Given the description of an element on the screen output the (x, y) to click on. 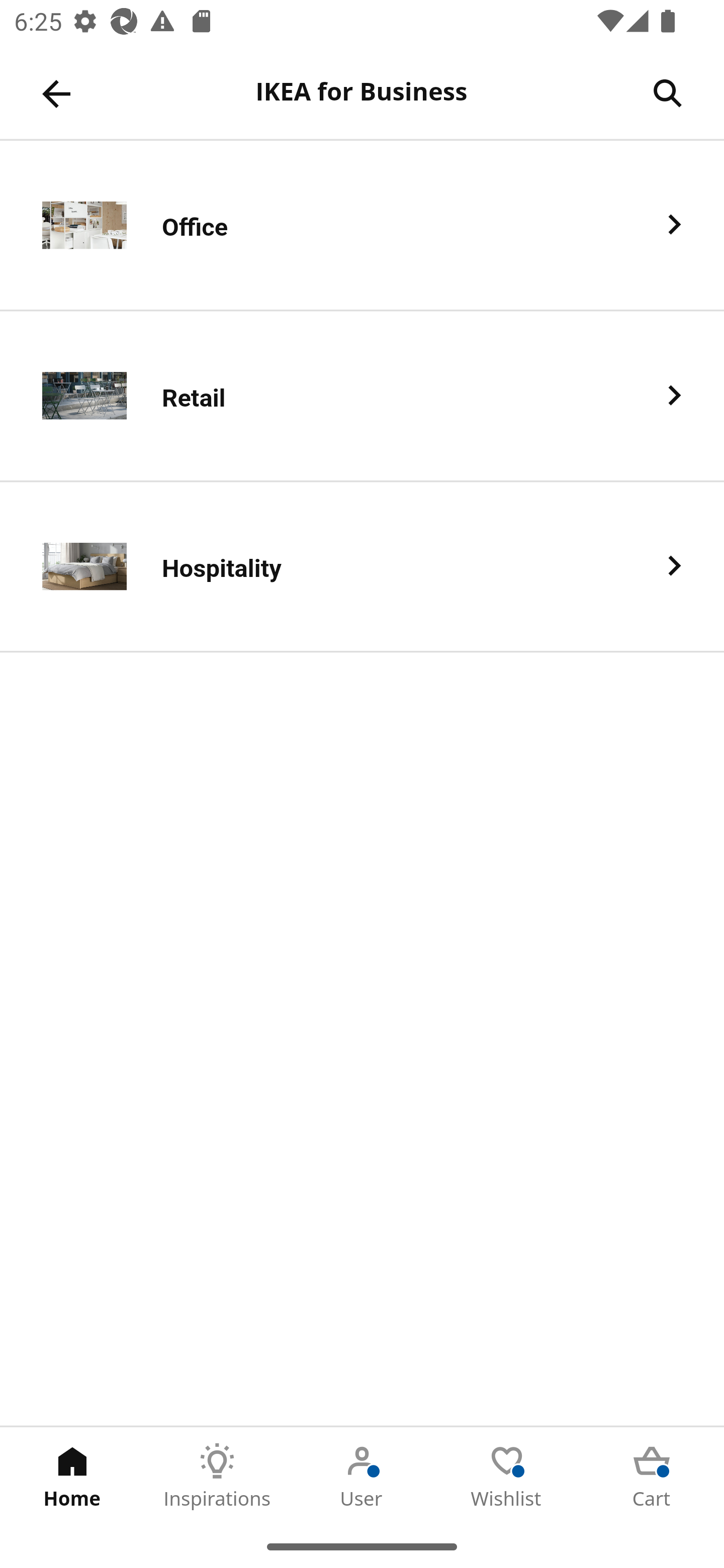
Office (362, 226)
Retail (362, 396)
Hospitality (362, 566)
Home
Tab 1 of 5 (72, 1476)
Inspirations
Tab 2 of 5 (216, 1476)
User
Tab 3 of 5 (361, 1476)
Wishlist
Tab 4 of 5 (506, 1476)
Cart
Tab 5 of 5 (651, 1476)
